Given the description of an element on the screen output the (x, y) to click on. 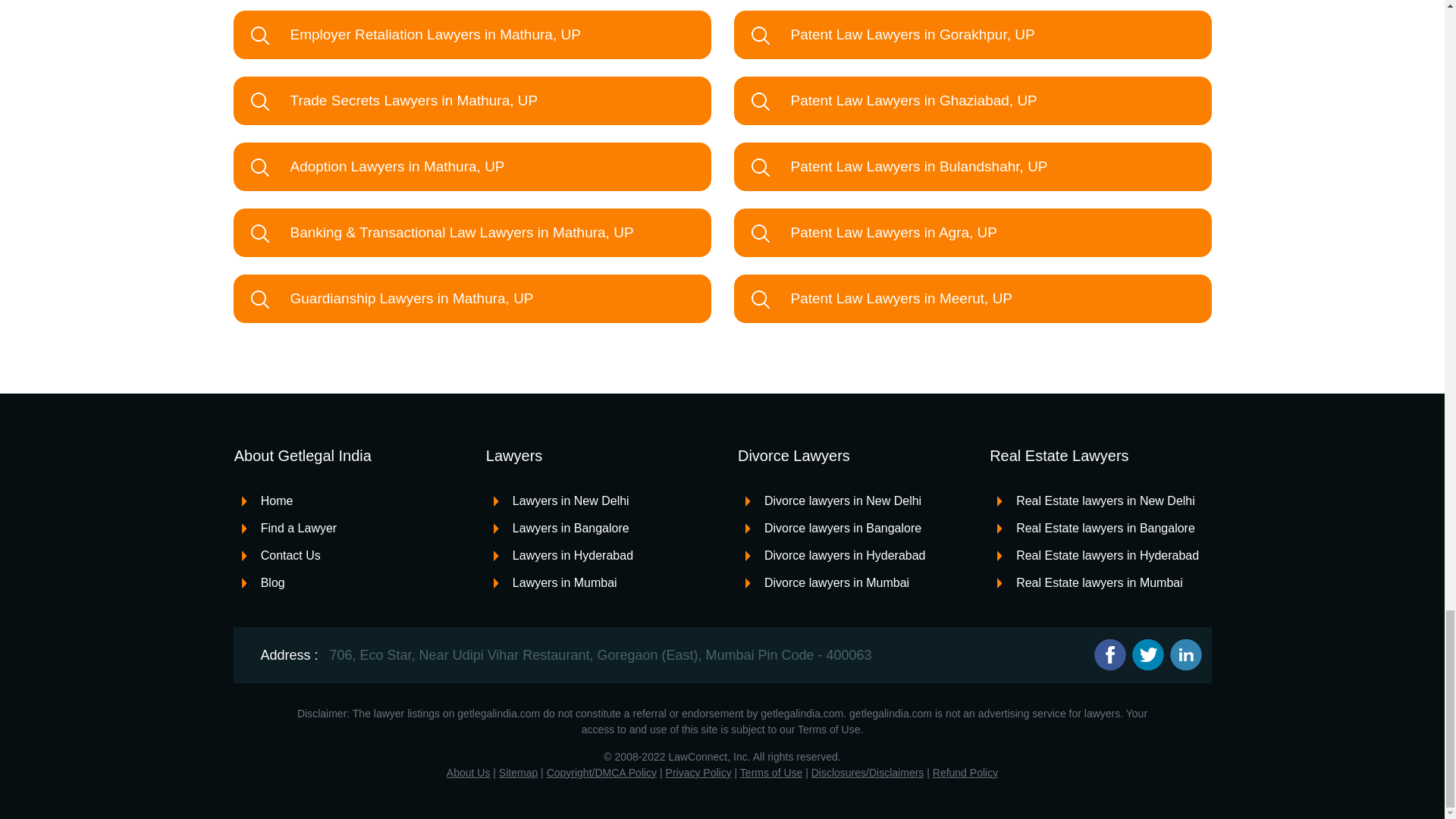
About Us (468, 772)
Real Estate lawyers in New Delhi (1096, 500)
Patent Law Lawyers in Bulandshahr, UP (972, 166)
Contact Us (280, 554)
Patent Law Lawyers in Gorakhpur, UP (972, 34)
Patent Law Lawyers in Ghaziabad, UP (972, 100)
Patent Law Lawyers in Meerut, UP (972, 298)
Lawyers in Bangalore (560, 527)
Blog (263, 582)
Patent Law Lawyers in Bulandshahr, UP (972, 166)
